Given the description of an element on the screen output the (x, y) to click on. 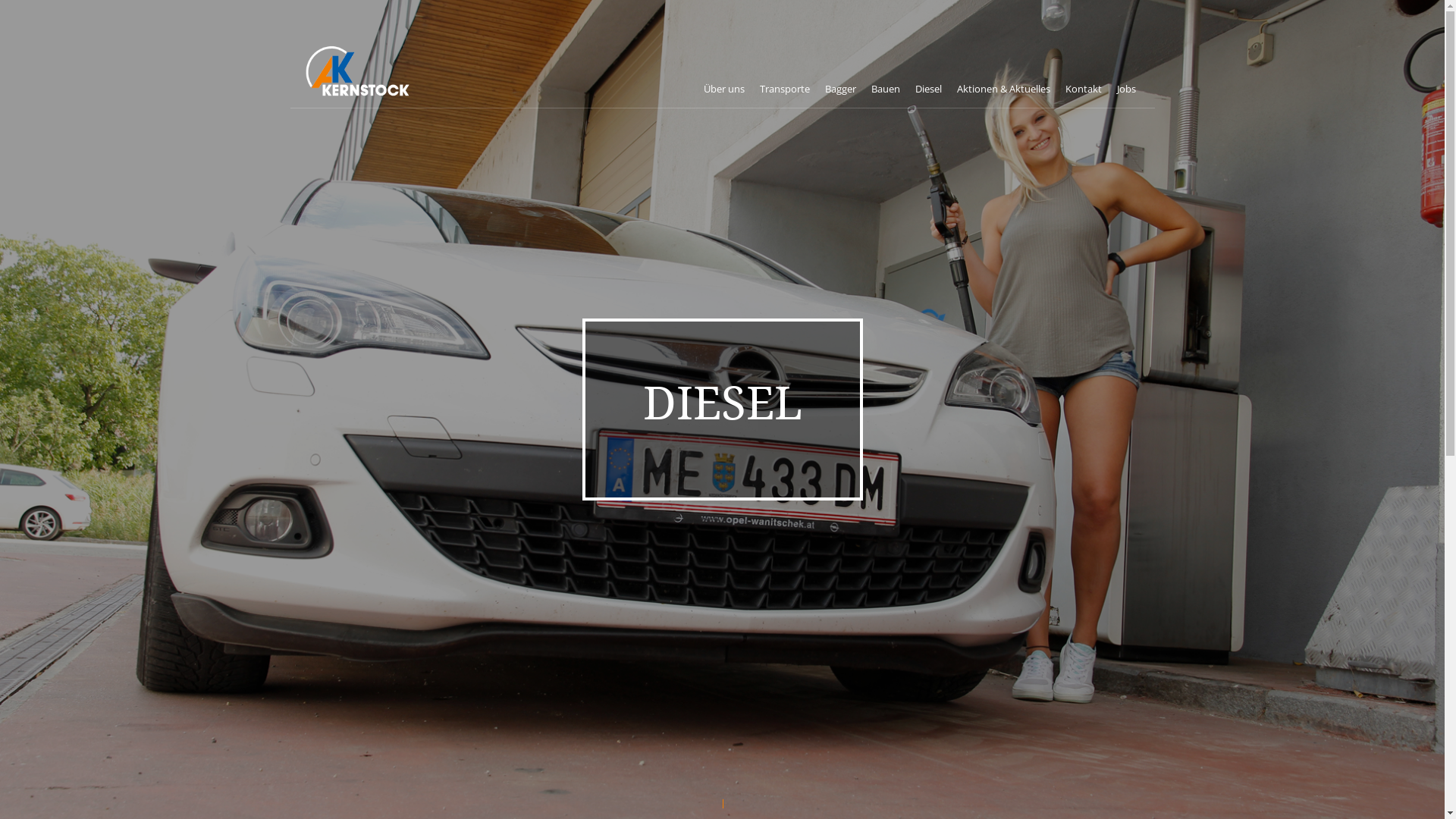
Kontakt Element type: text (1082, 88)
Aktionen & Aktuelles Element type: text (1003, 88)
Bauen Element type: text (884, 88)
AK Kernstock Element type: hover (360, 63)
Jobs Element type: text (1125, 88)
Transporte Element type: text (784, 88)
Diesel Element type: text (927, 88)
Bagger Element type: text (840, 88)
